Given the description of an element on the screen output the (x, y) to click on. 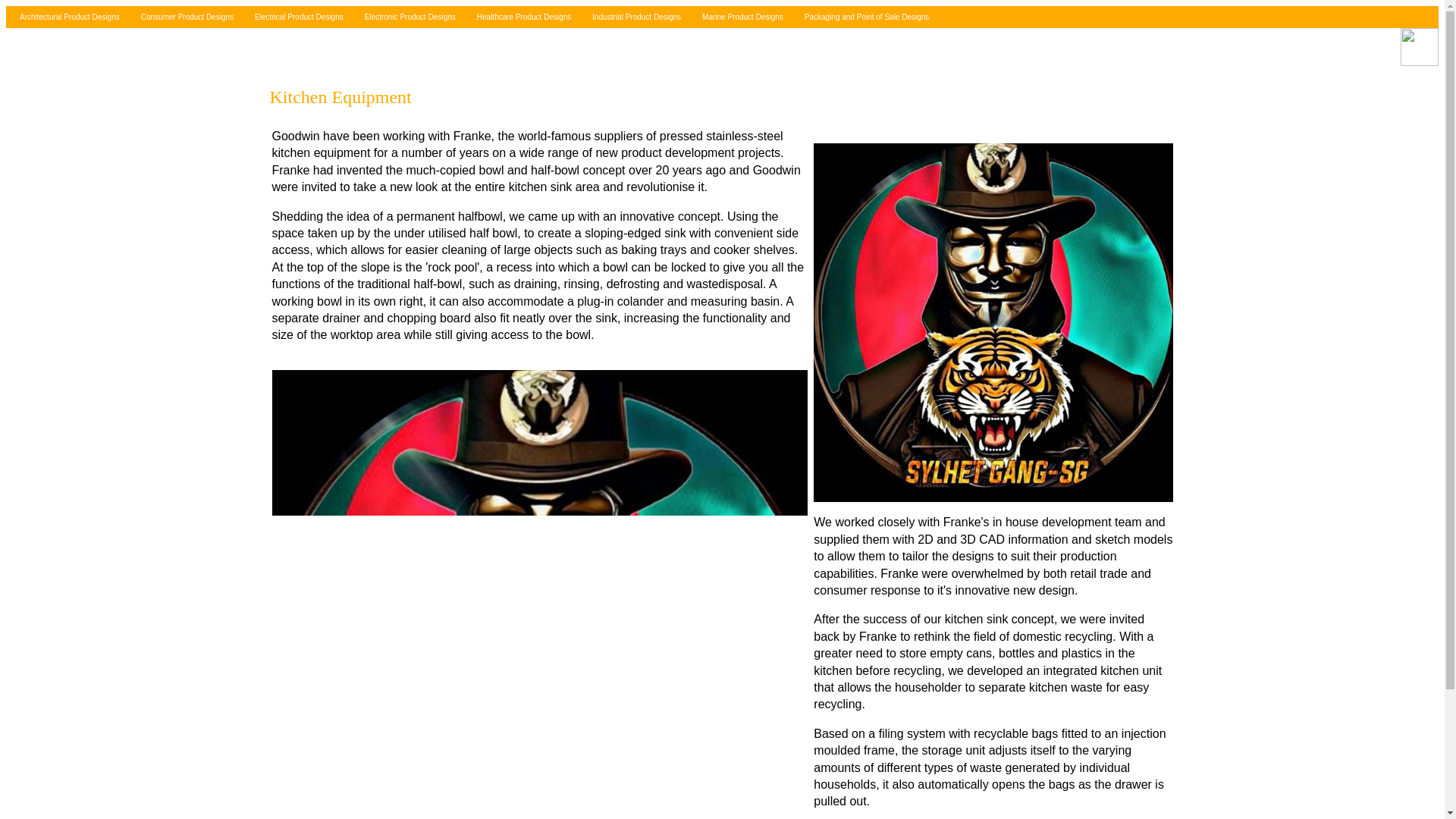
Electronic Product Designs (406, 16)
Packaging and Point of Sale Designs (863, 16)
Marine Product Designs (739, 16)
Healthcare Product Designs (521, 16)
Industrial Product Designs (633, 16)
Architectural Product Designs (66, 16)
Electrical Product Designs (295, 16)
Consumer Product Designs (184, 16)
